Given the description of an element on the screen output the (x, y) to click on. 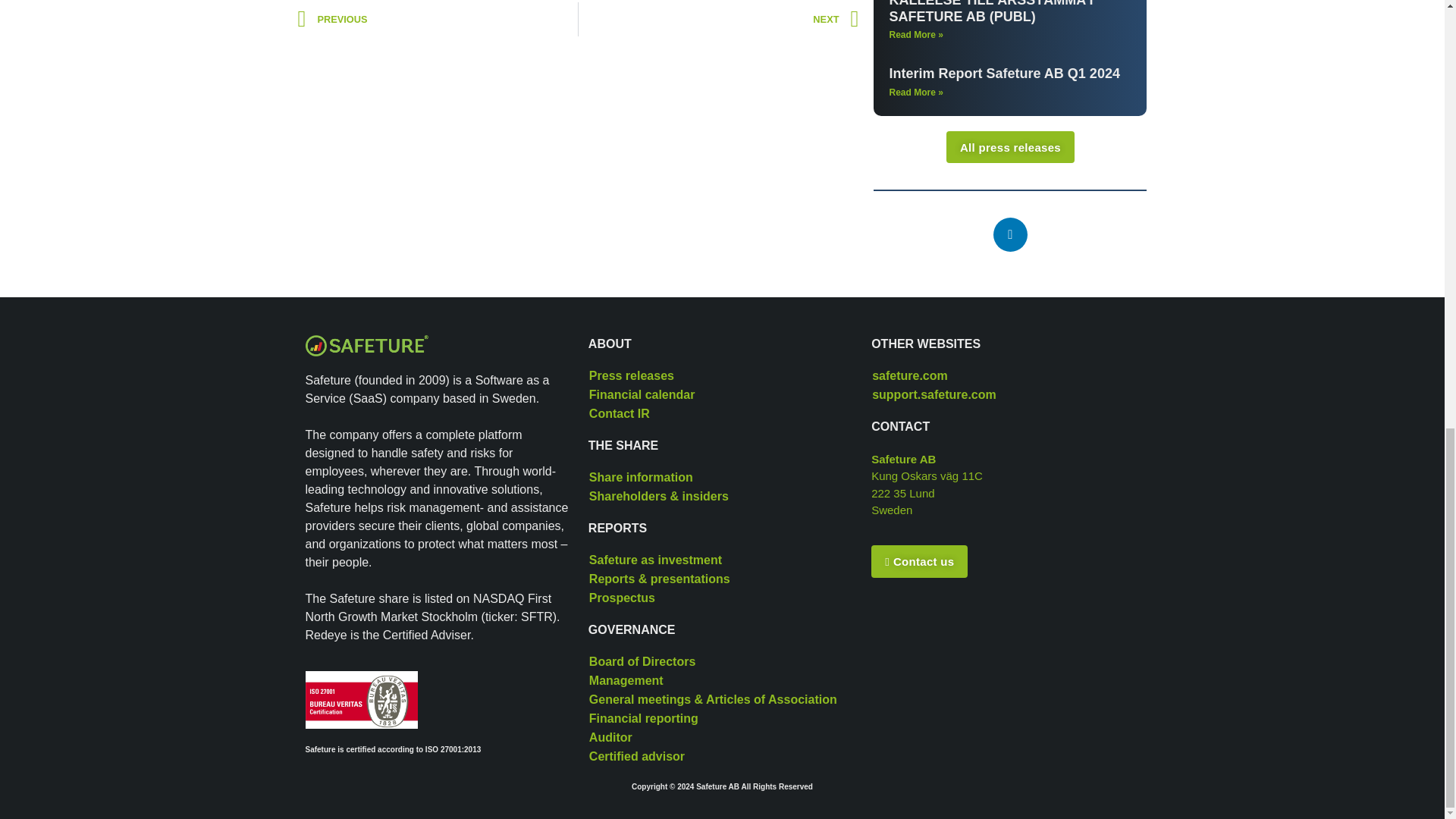
PREVIOUS (436, 19)
